Given the description of an element on the screen output the (x, y) to click on. 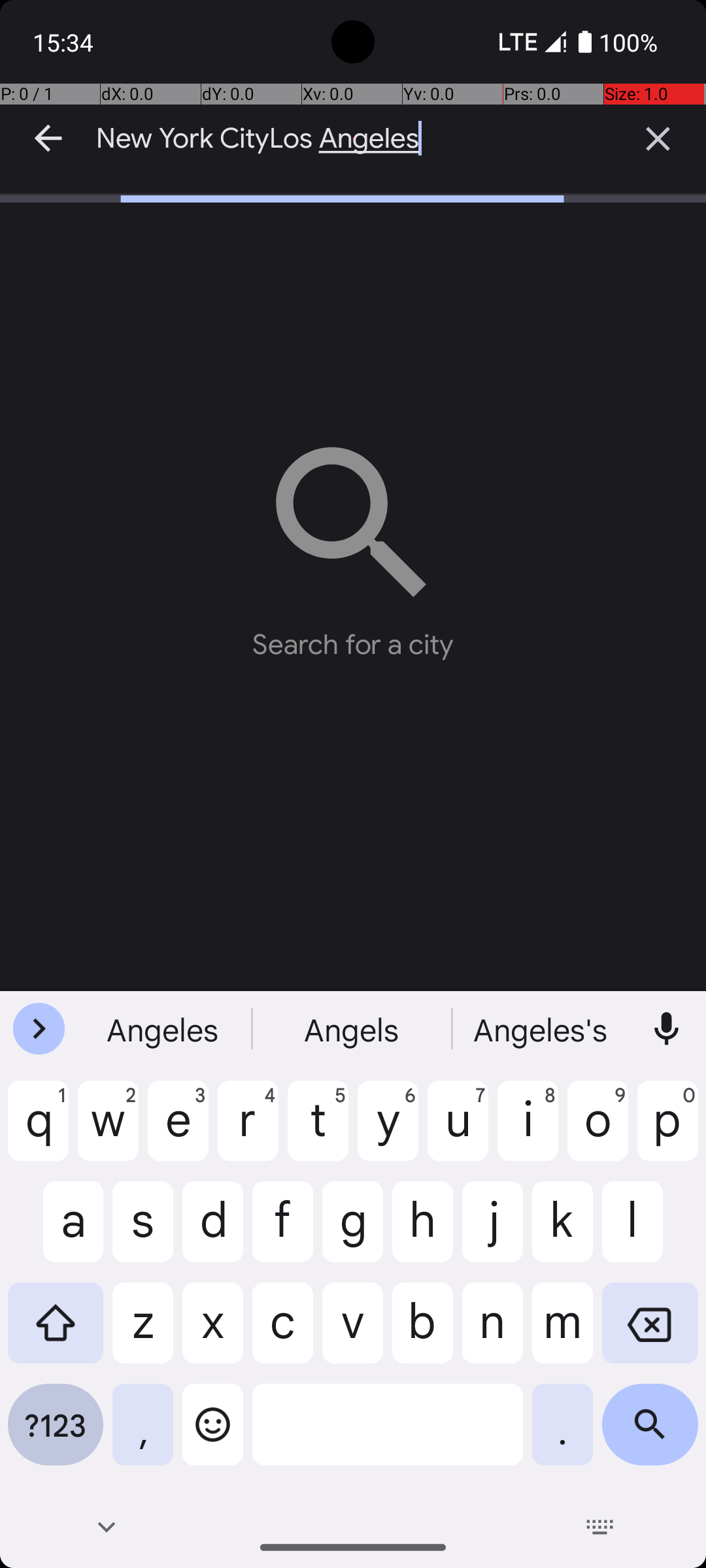
New York CityLos Angeles Element type: android.widget.EditText (352, 138)
Clear text Element type: android.widget.ImageButton (657, 138)
Search for a city Element type: android.widget.TextView (353, 541)
Angele Element type: android.widget.FrameLayout (163, 1028)
Angeles Element type: android.widget.FrameLayout (352, 1028)
Angel Element type: android.widget.FrameLayout (541, 1028)
